Given the description of an element on the screen output the (x, y) to click on. 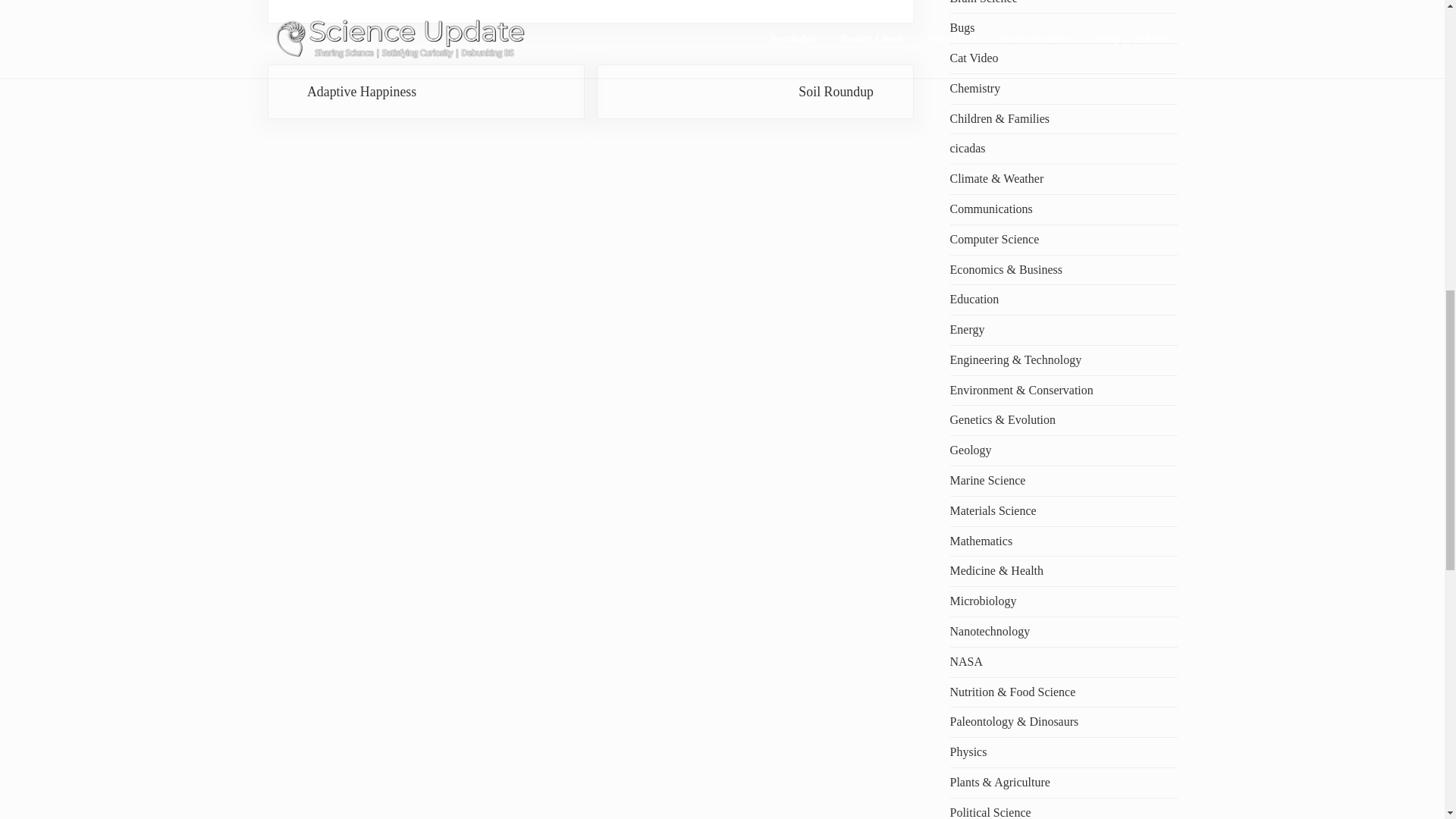
Brain Science (424, 91)
